Given the description of an element on the screen output the (x, y) to click on. 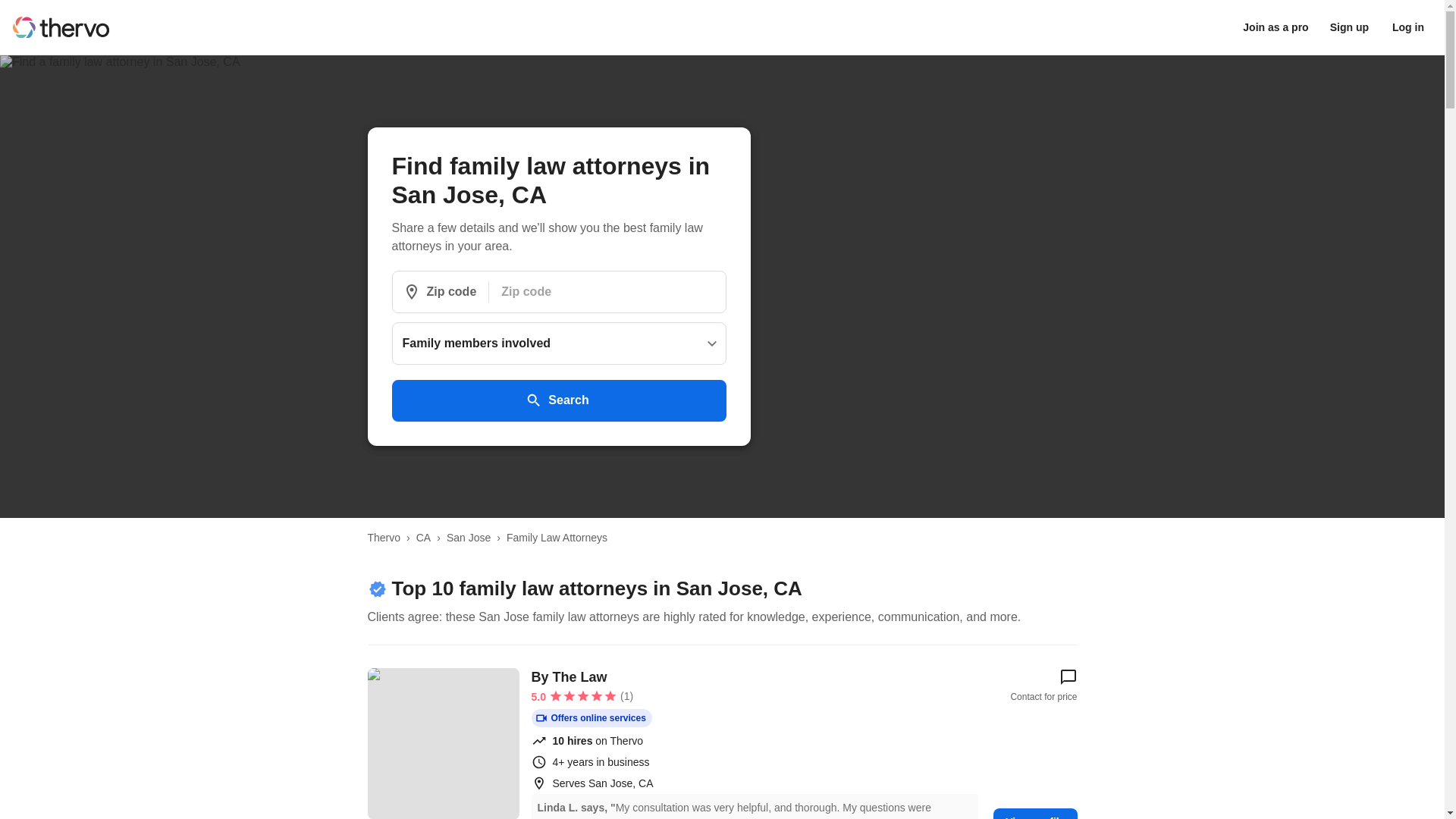
San Jose (468, 537)
CA (423, 537)
View profile (1034, 813)
Connect with this therapist via an online session. (590, 718)
Search (558, 400)
Family Law Attorneys (556, 537)
Sign up (1348, 27)
Contact for price (1043, 685)
By The Law (442, 743)
Join as a pro (1275, 27)
Log in (1408, 27)
Thervo (383, 537)
